Given the description of an element on the screen output the (x, y) to click on. 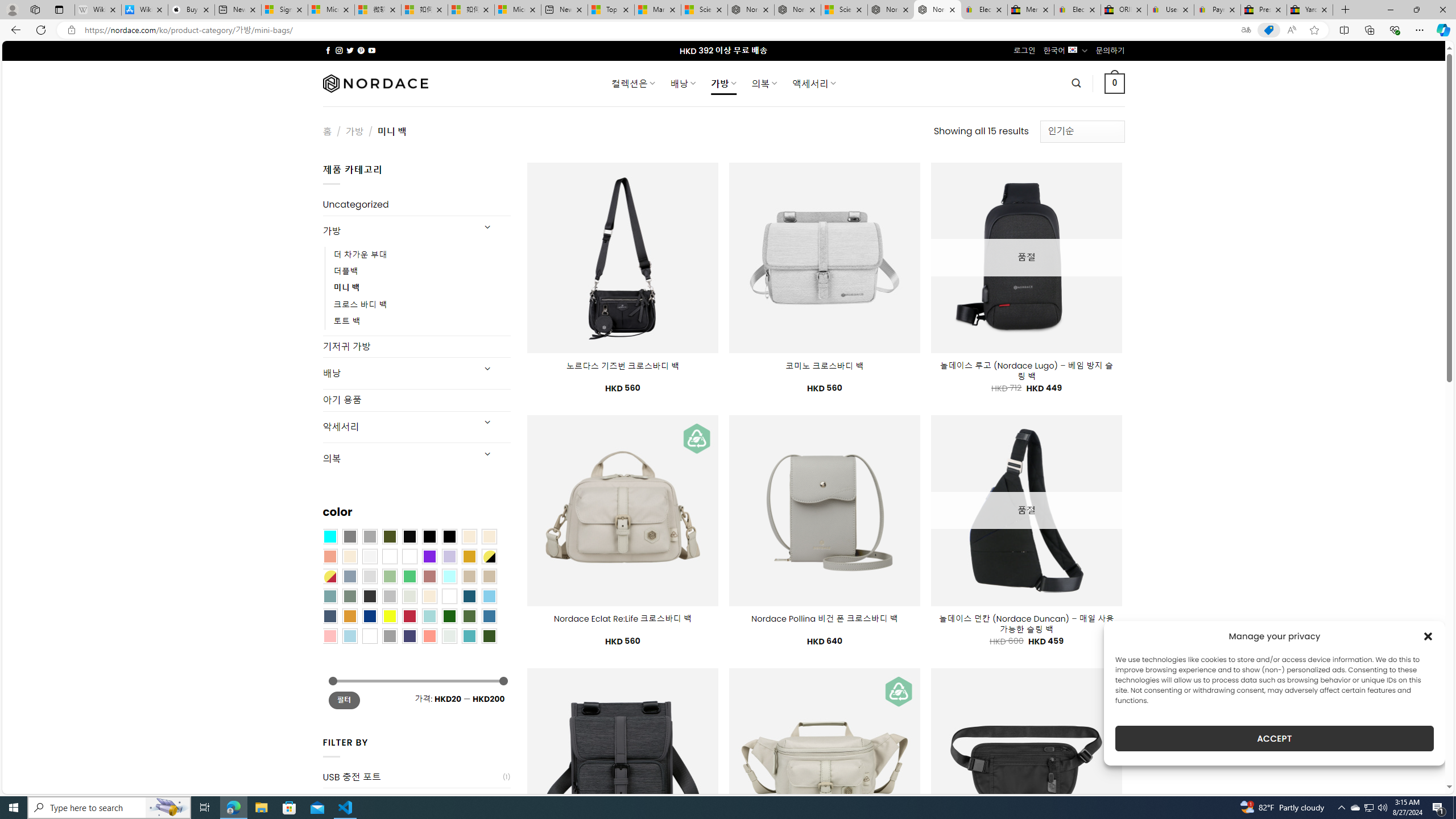
Follow on Twitter (349, 50)
Cream (349, 555)
Wikipedia - Sleeping (97, 9)
Follow on Pinterest (360, 50)
Top Stories - MSN (610, 9)
Nordace - Summer Adventures 2024 (890, 9)
